Given the description of an element on the screen output the (x, y) to click on. 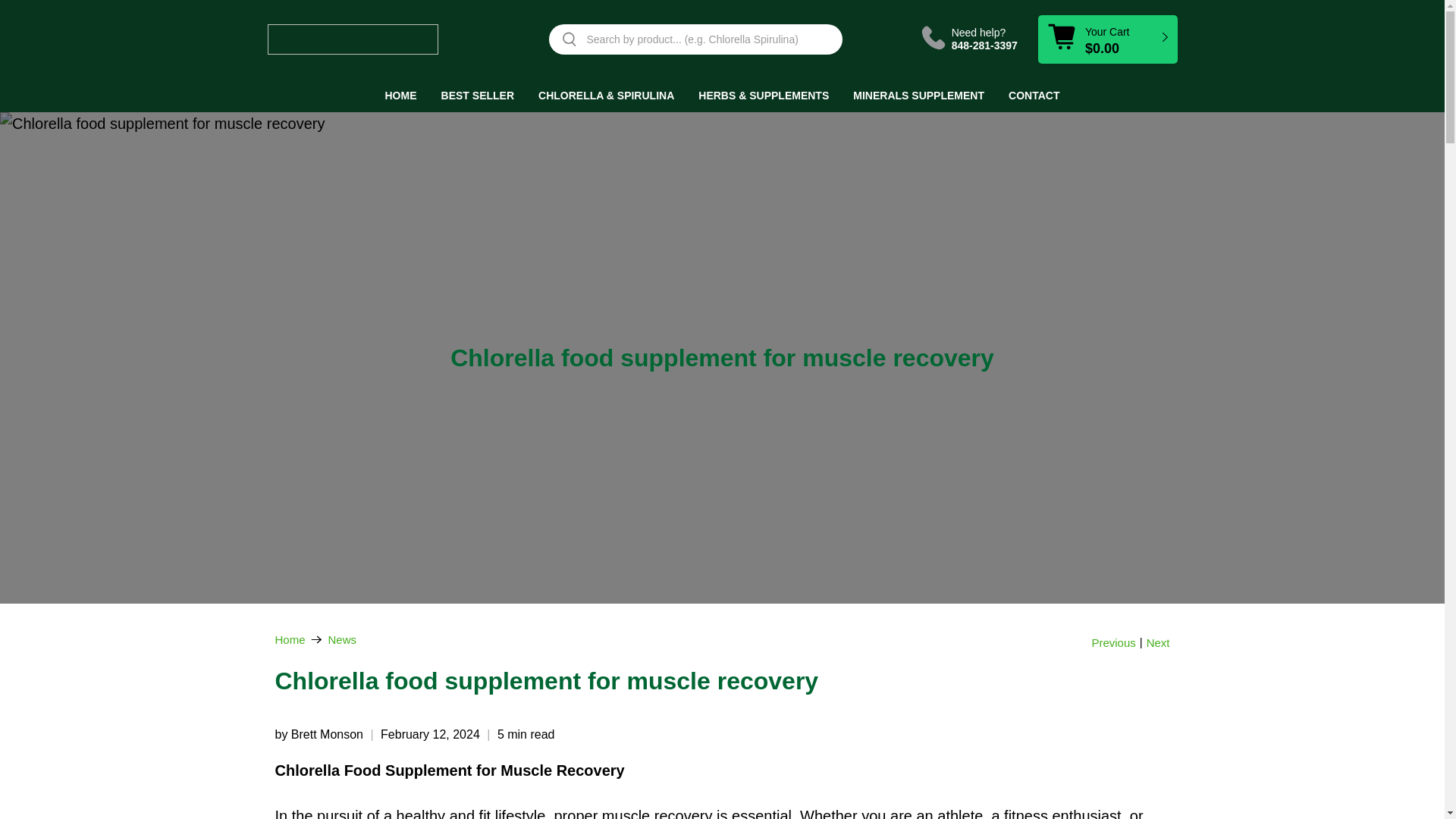
Previous (1112, 642)
by Brett Monson (318, 734)
Home (289, 639)
Mysuperfoodrx (289, 639)
Next (1158, 642)
Previous (1112, 642)
CONTACT (1033, 95)
HOME (400, 95)
Mysuperfoodrx (352, 39)
News (342, 639)
